Given the description of an element on the screen output the (x, y) to click on. 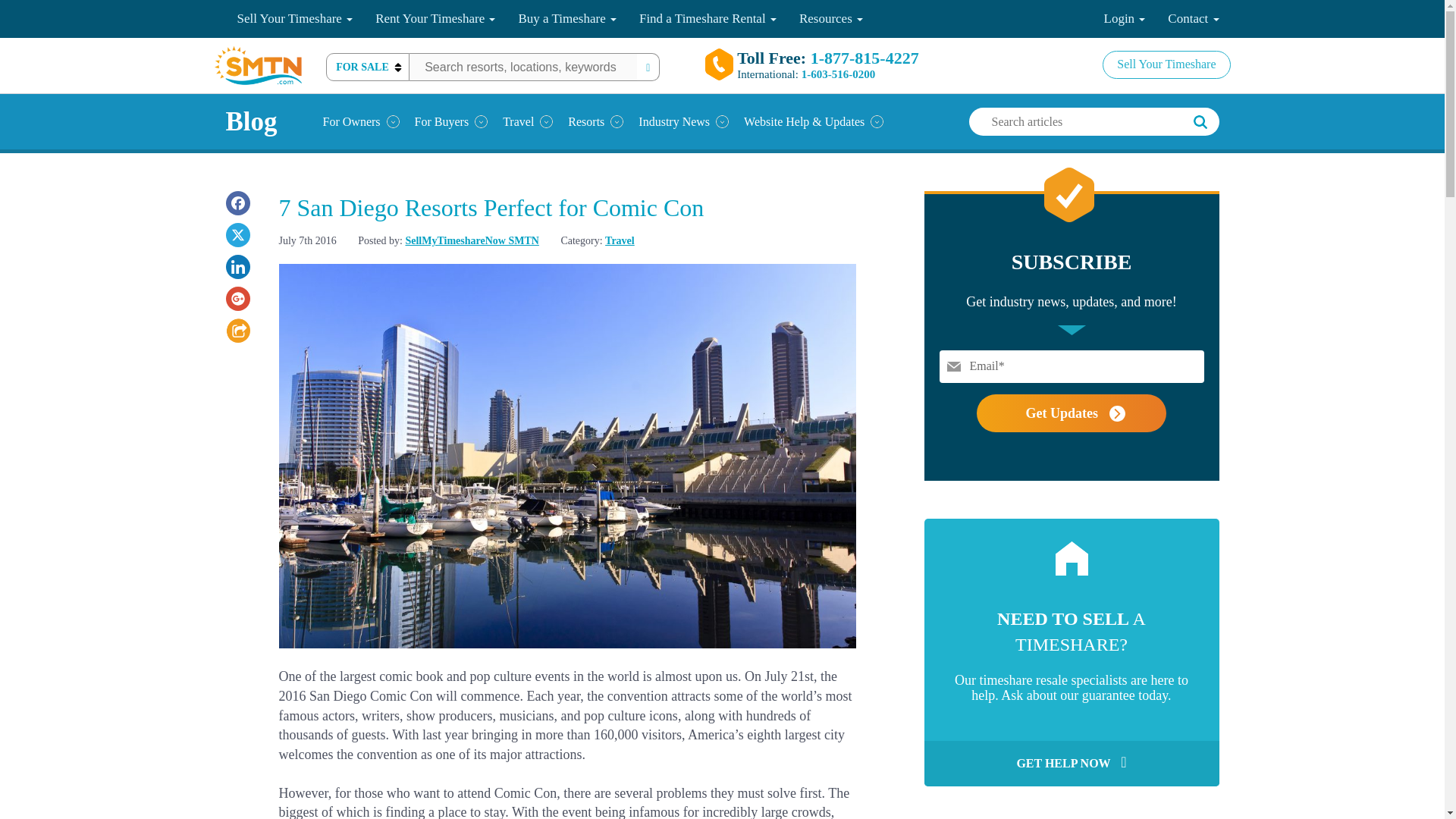
Rent Your Timeshare (435, 18)
Find a Timeshare Rental (707, 18)
Resources (831, 18)
Sell Your Timeshare (295, 18)
For Sale (367, 67)
Buy a Timeshare (566, 18)
